Given the description of an element on the screen output the (x, y) to click on. 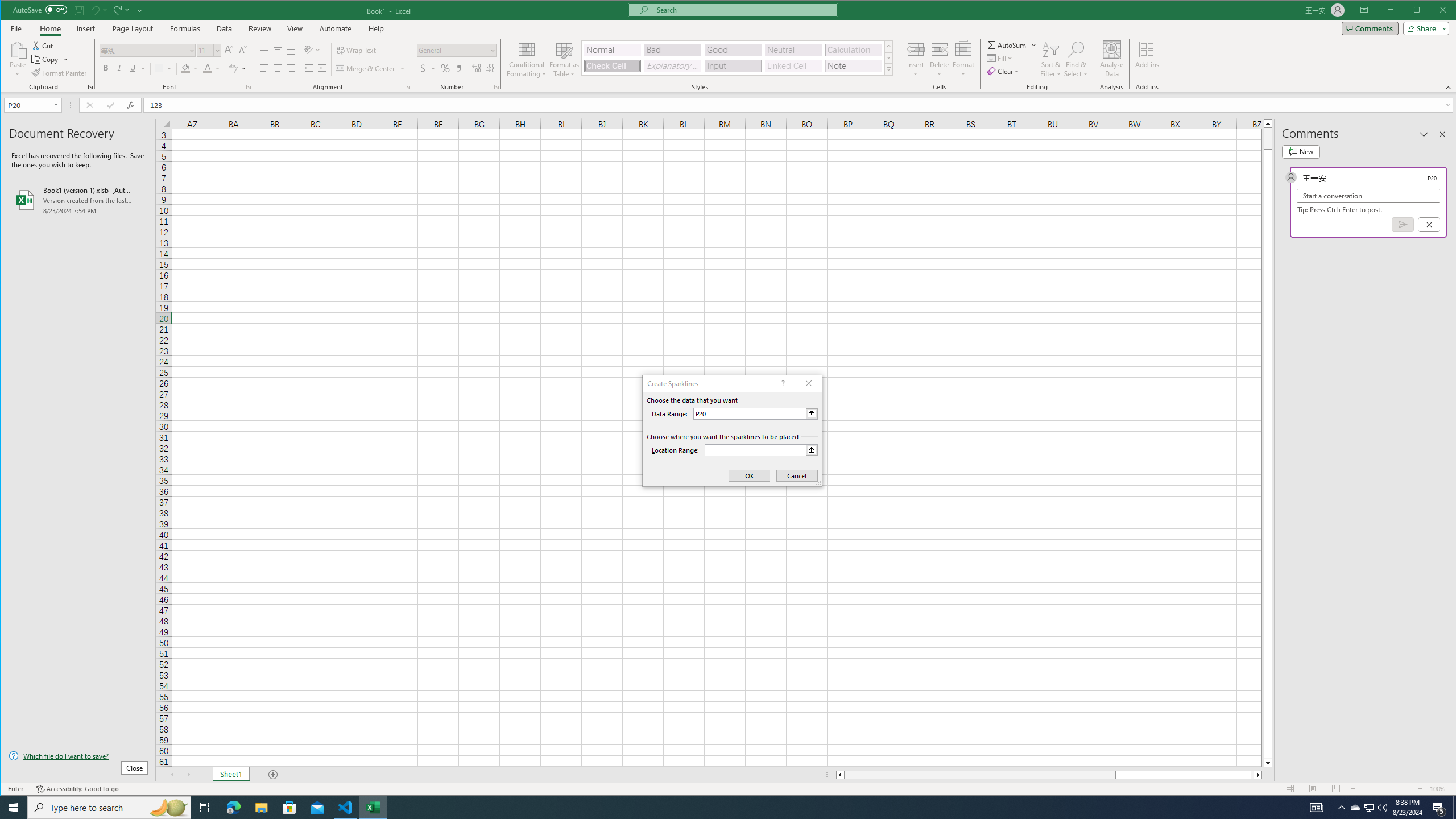
Linked Cell (793, 65)
Input (732, 65)
Italic (119, 68)
Explanatory Text (672, 65)
Top Align (263, 49)
